Given the description of an element on the screen output the (x, y) to click on. 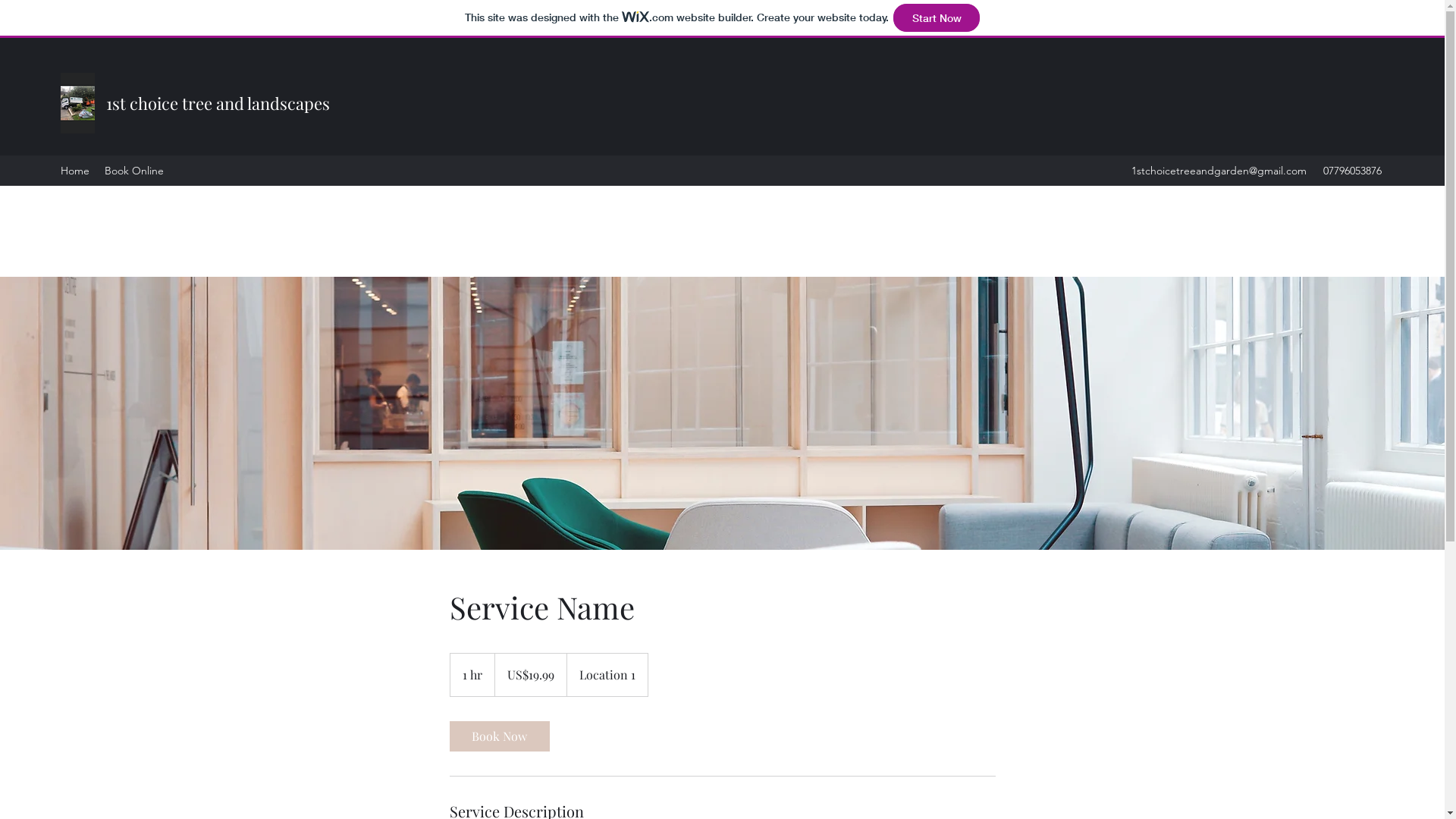
Book Online Element type: text (134, 170)
1st choice tree and landscapes Element type: text (217, 102)
Book Now Element type: text (498, 736)
Home Element type: text (75, 170)
1stchoicetreeandgarden@gmail.com Element type: text (1218, 170)
